Given the description of an element on the screen output the (x, y) to click on. 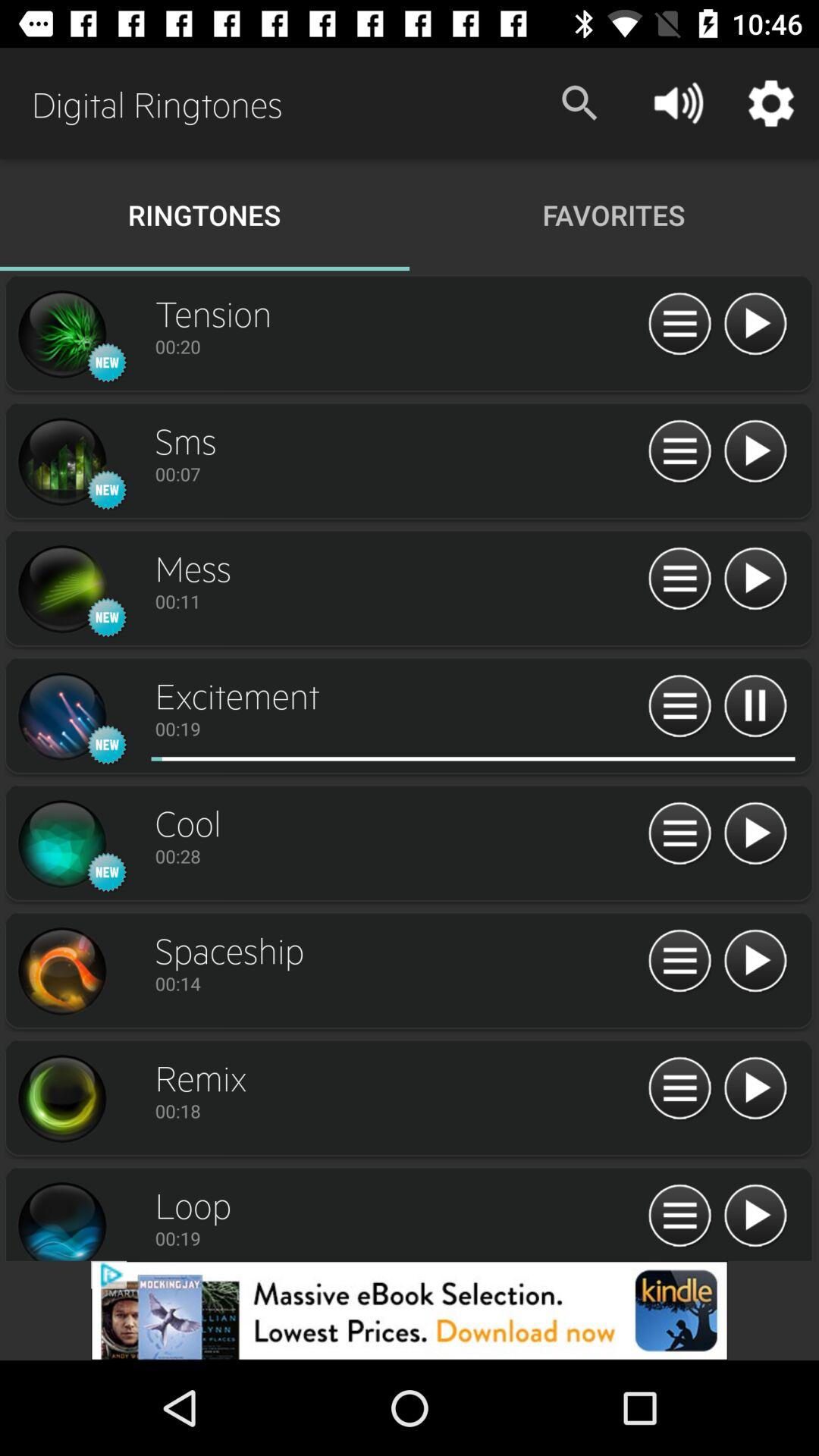
open menu (679, 706)
